Given the description of an element on the screen output the (x, y) to click on. 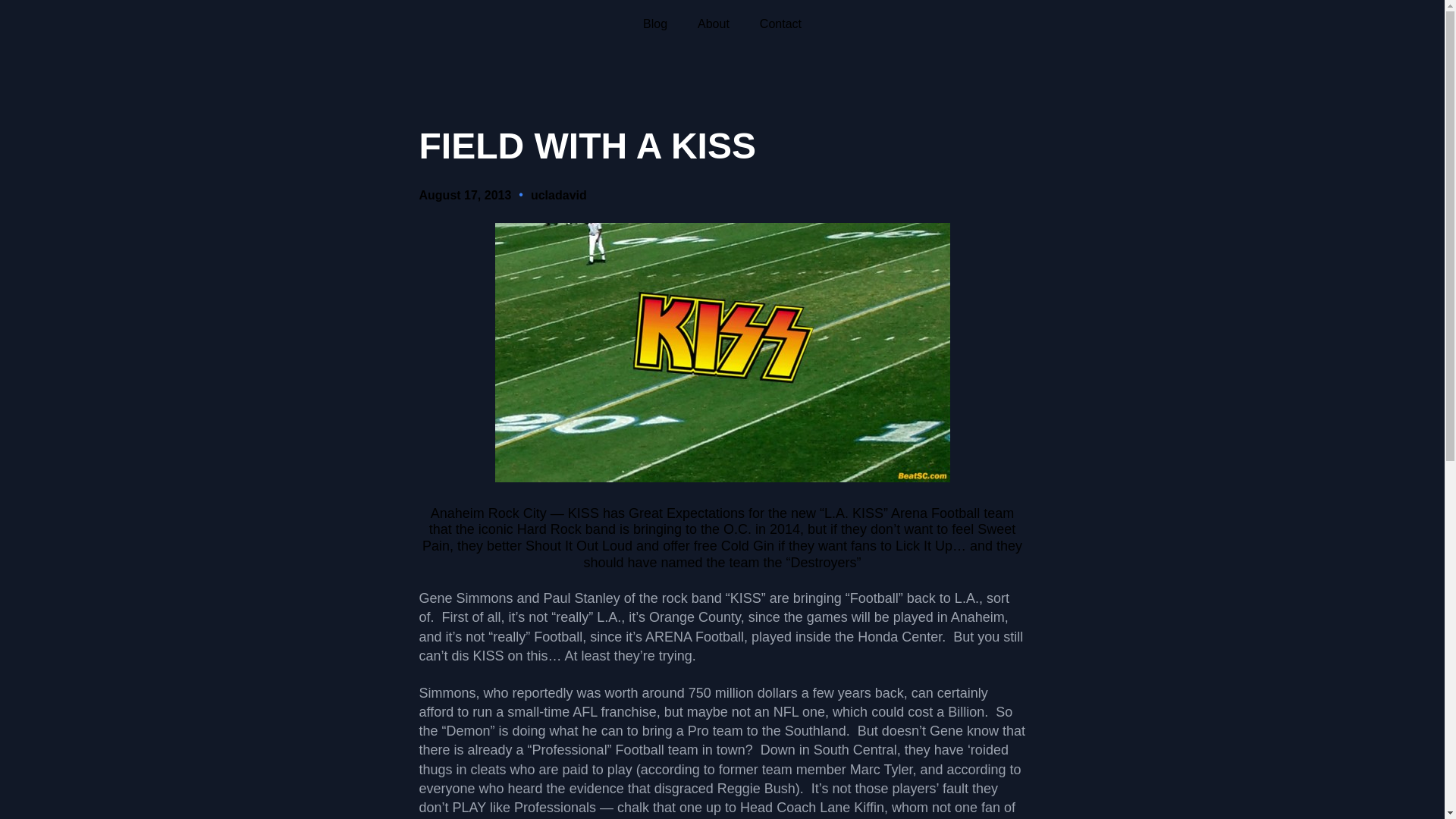
About (713, 24)
Contact (781, 24)
Blog (654, 24)
F.W.A.K. (722, 352)
ucladavid (558, 195)
